Given the description of an element on the screen output the (x, y) to click on. 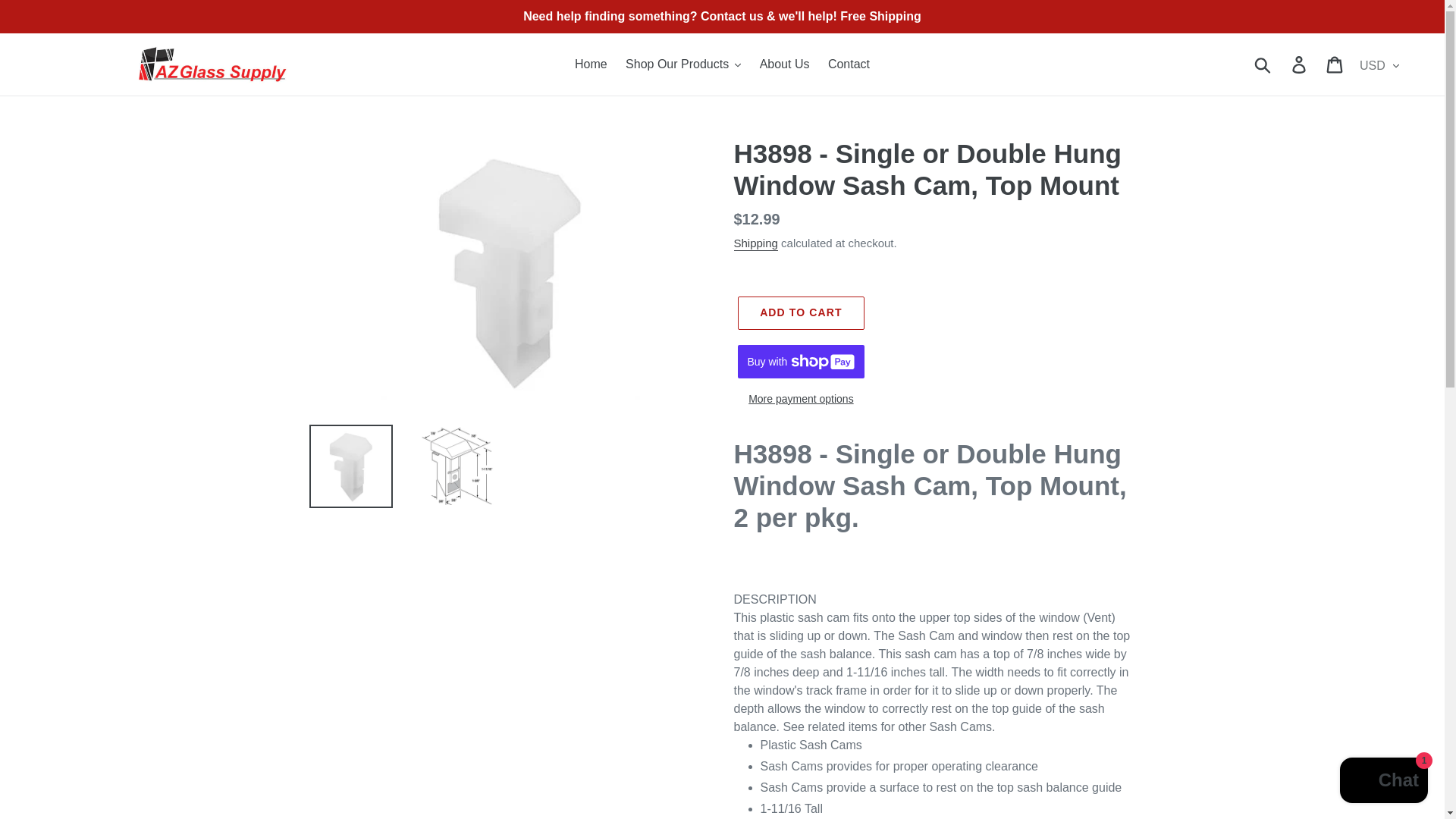
Cart (1335, 64)
Home (590, 64)
Log in (1299, 64)
Contact (849, 64)
Submit (1263, 64)
About Us (784, 64)
Shopify online store chat (1383, 781)
